Given the description of an element on the screen output the (x, y) to click on. 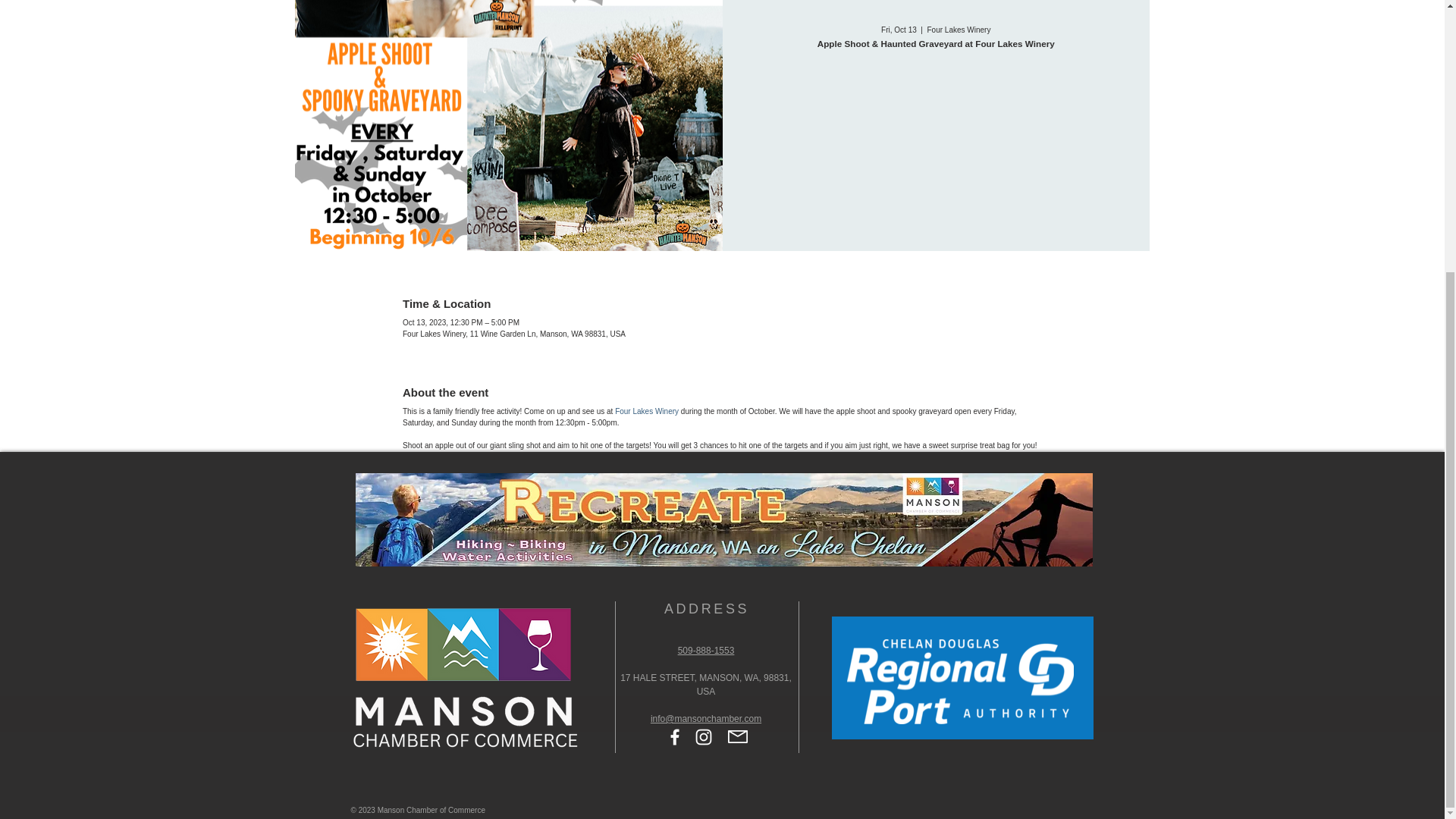
Four Lakes Winery (646, 411)
509-888-1553 (706, 650)
